Given the description of an element on the screen output the (x, y) to click on. 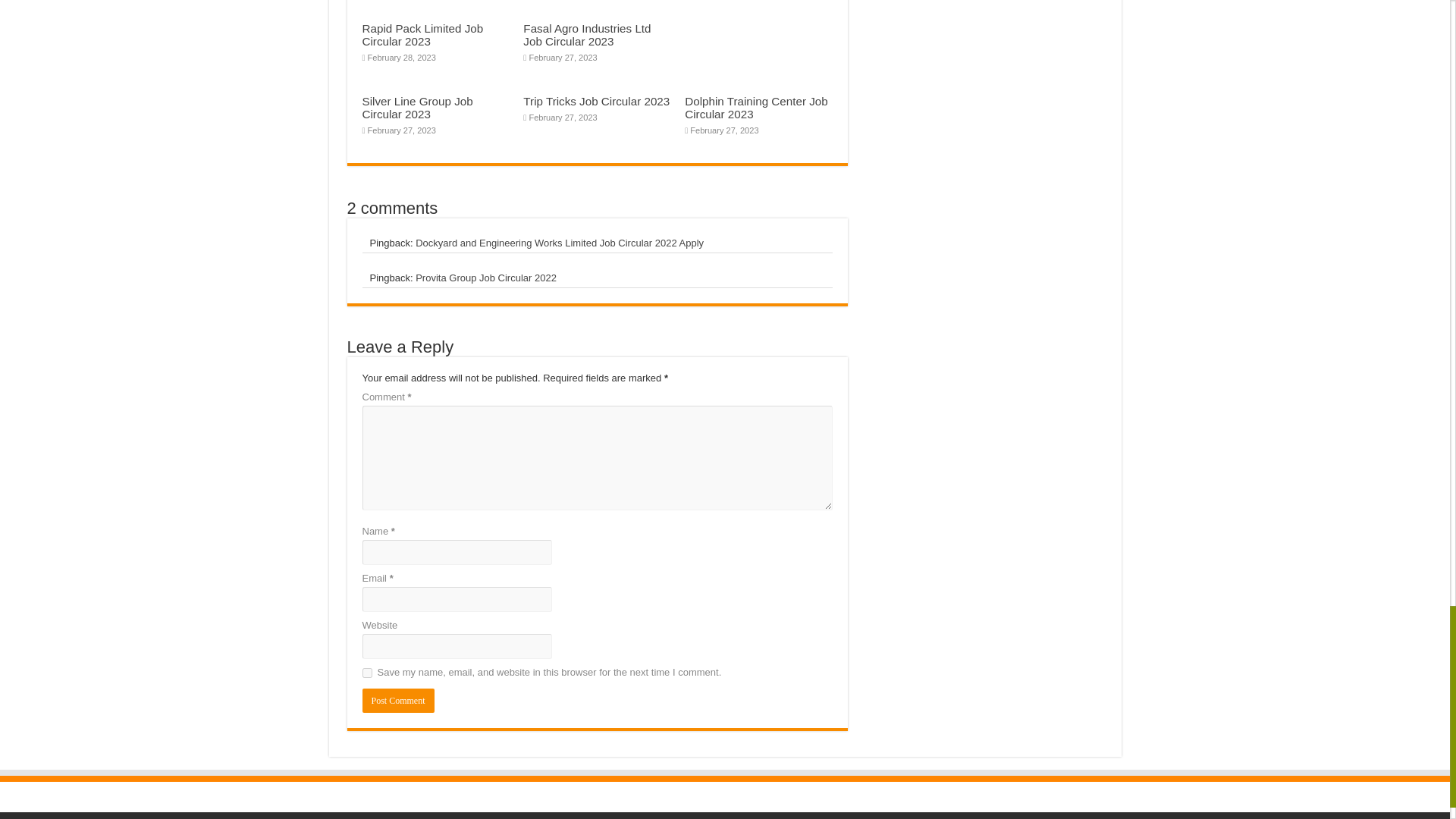
Post Comment (397, 700)
Rapid Pack Limited Job Circular 2023 (422, 34)
yes (367, 673)
